Given the description of an element on the screen output the (x, y) to click on. 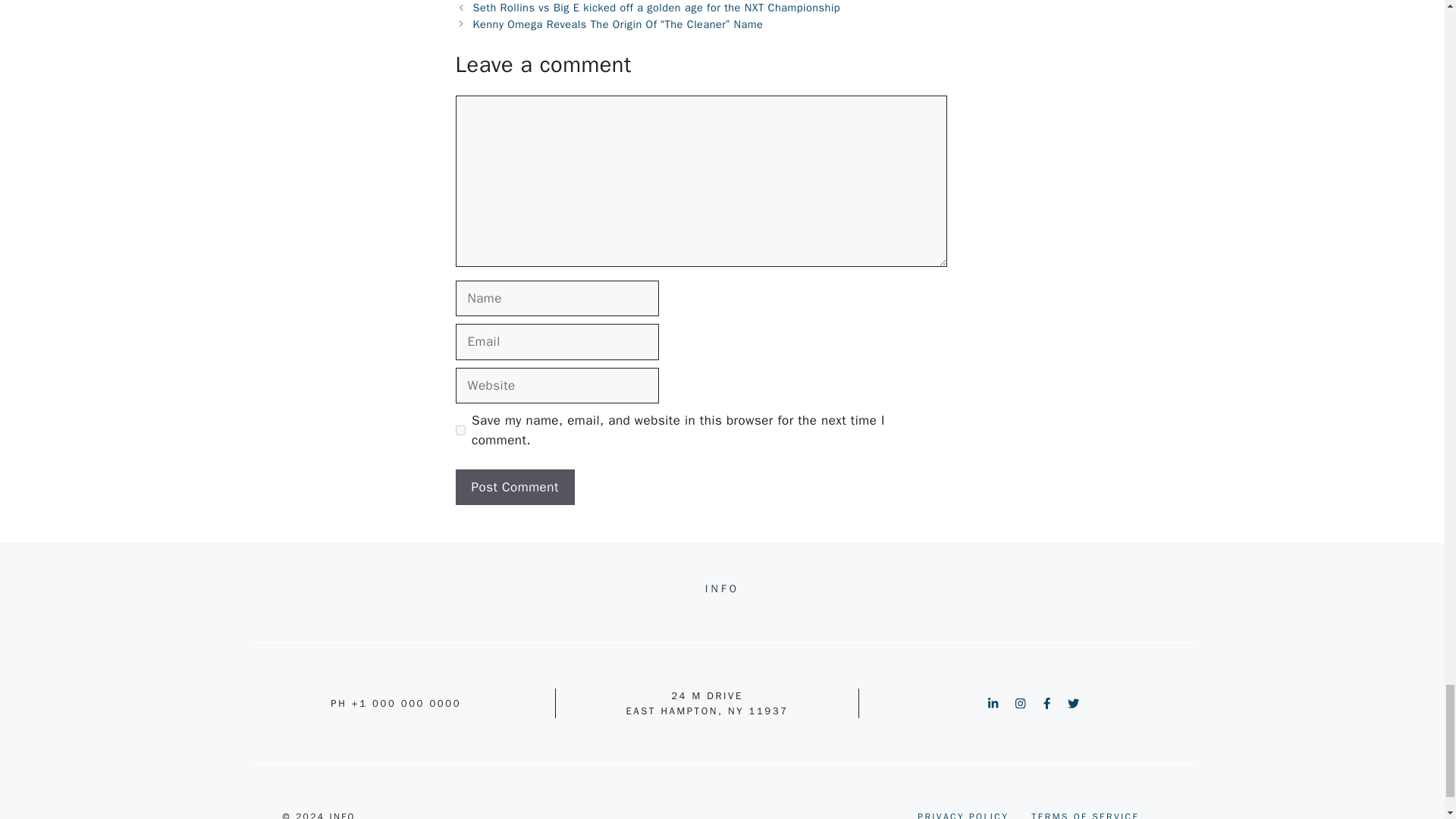
yes (459, 429)
TERMS OF SERVICE (1084, 814)
Post Comment (513, 487)
PRIVACY POLICY (963, 814)
Post Comment (513, 487)
